Given the description of an element on the screen output the (x, y) to click on. 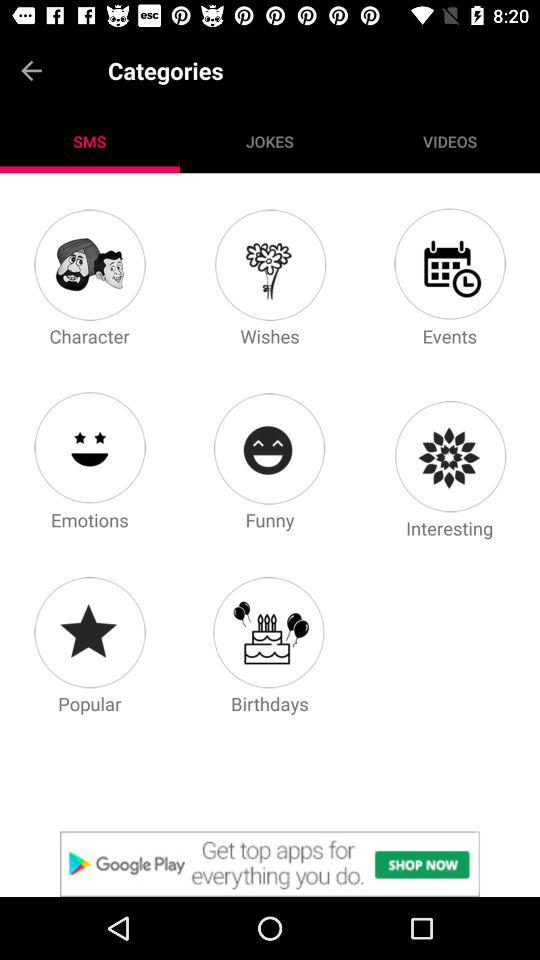
happy birthday icon (269, 632)
